Given the description of an element on the screen output the (x, y) to click on. 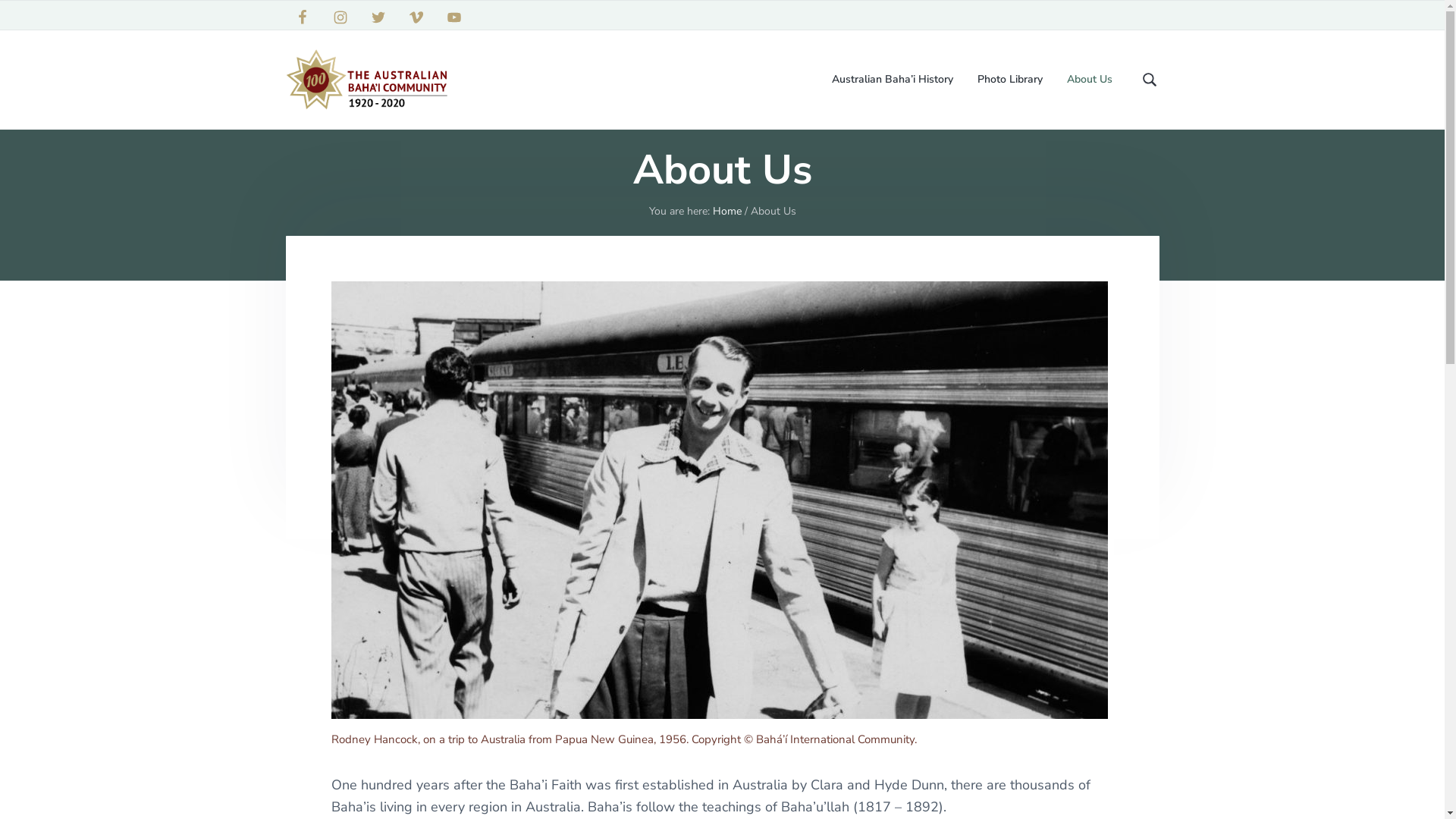
Search Element type: text (59, 18)
Photo Library Element type: text (1008, 79)
Skip to primary navigation Element type: text (0, 129)
Australian Bahai Centenary Element type: text (289, 273)
About Us Element type: text (1088, 79)
Home Element type: text (726, 210)
